Given the description of an element on the screen output the (x, y) to click on. 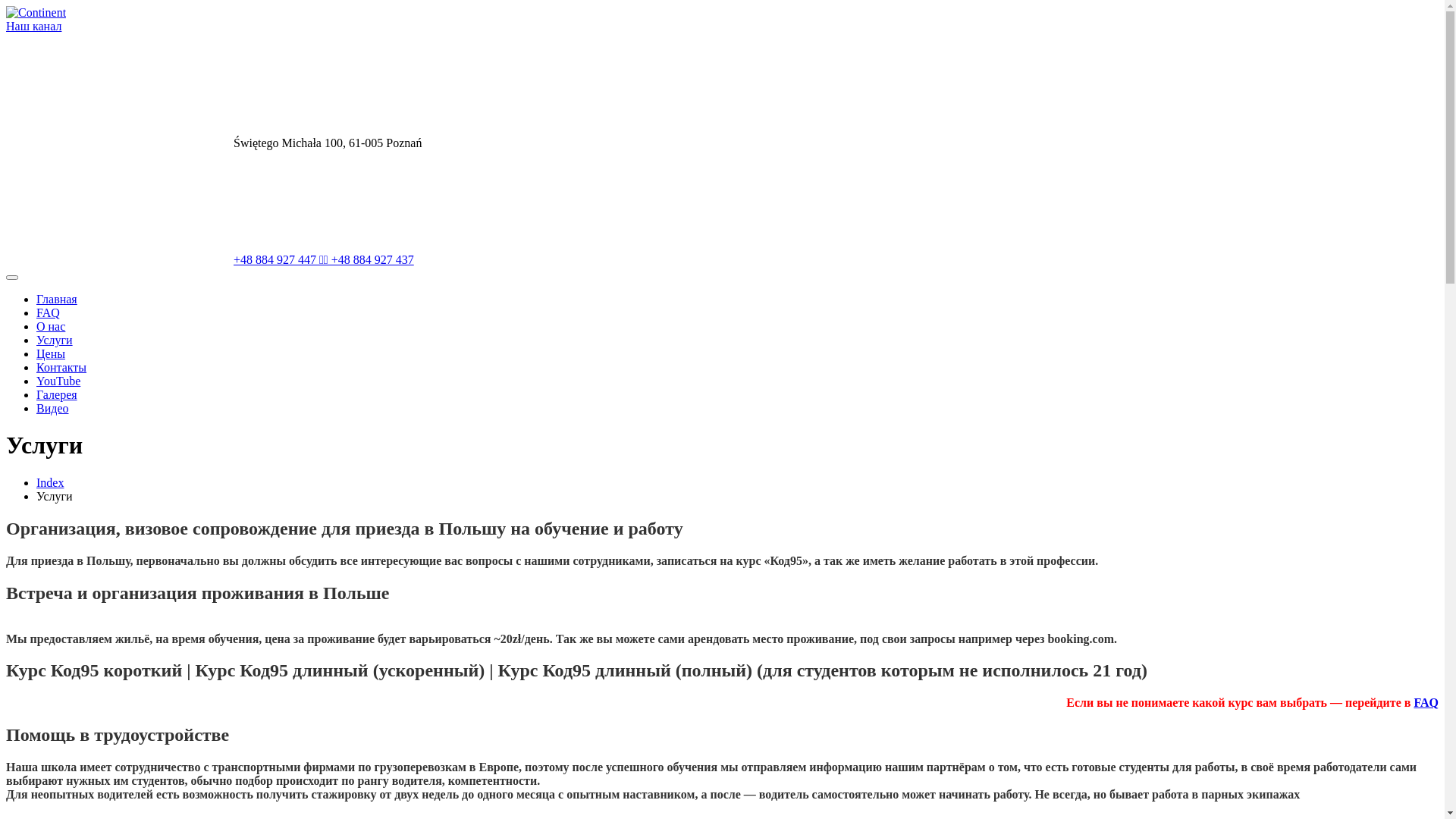
YouTube Element type: text (58, 380)
Index Element type: text (49, 482)
FAQ Element type: text (1425, 702)
FAQ Element type: text (47, 312)
